Given the description of an element on the screen output the (x, y) to click on. 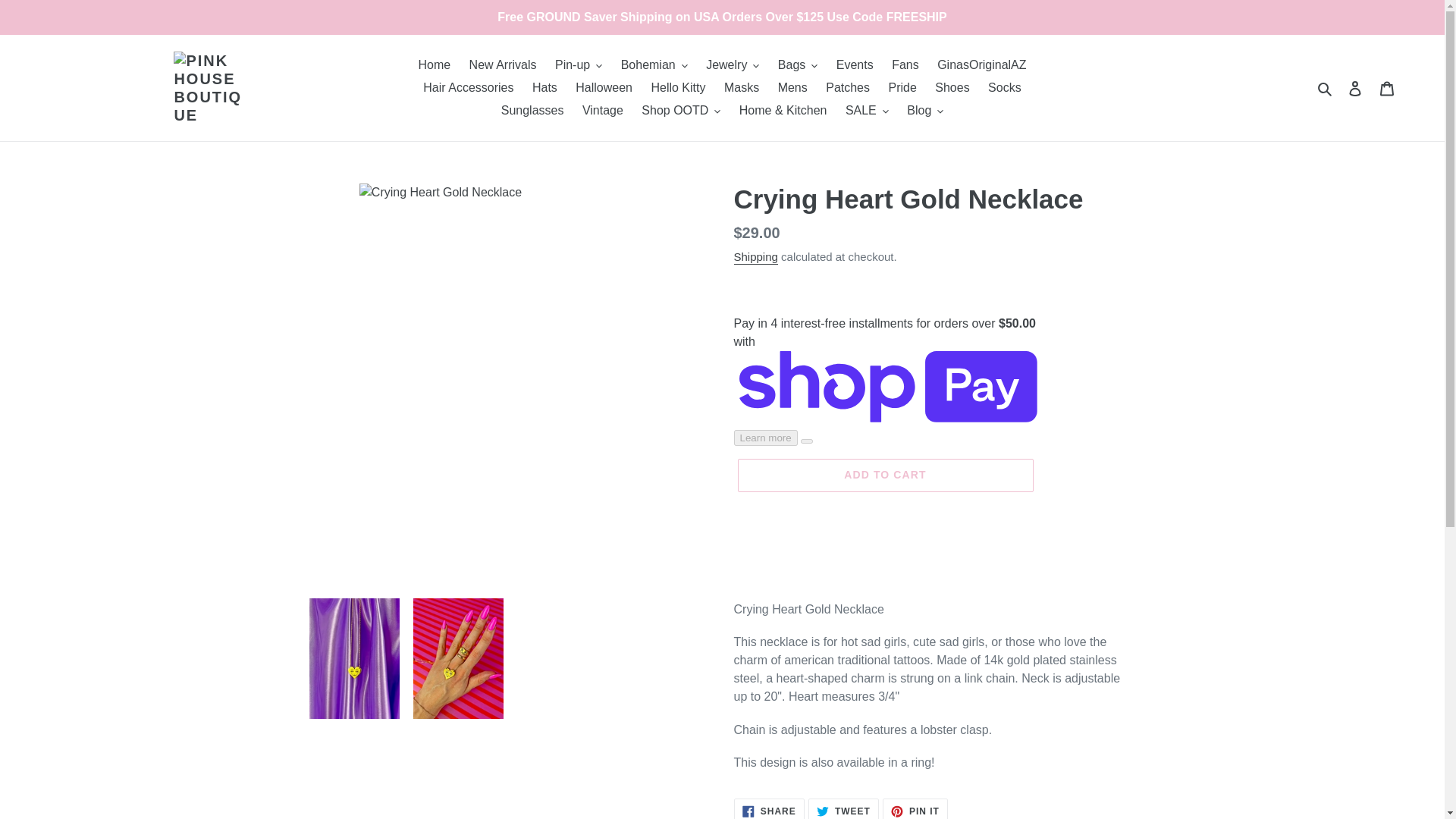
Bohemian (653, 65)
Home (434, 65)
Jewelry (732, 65)
New Arrivals (502, 65)
Bags (797, 65)
Pin-up (578, 65)
